Given the description of an element on the screen output the (x, y) to click on. 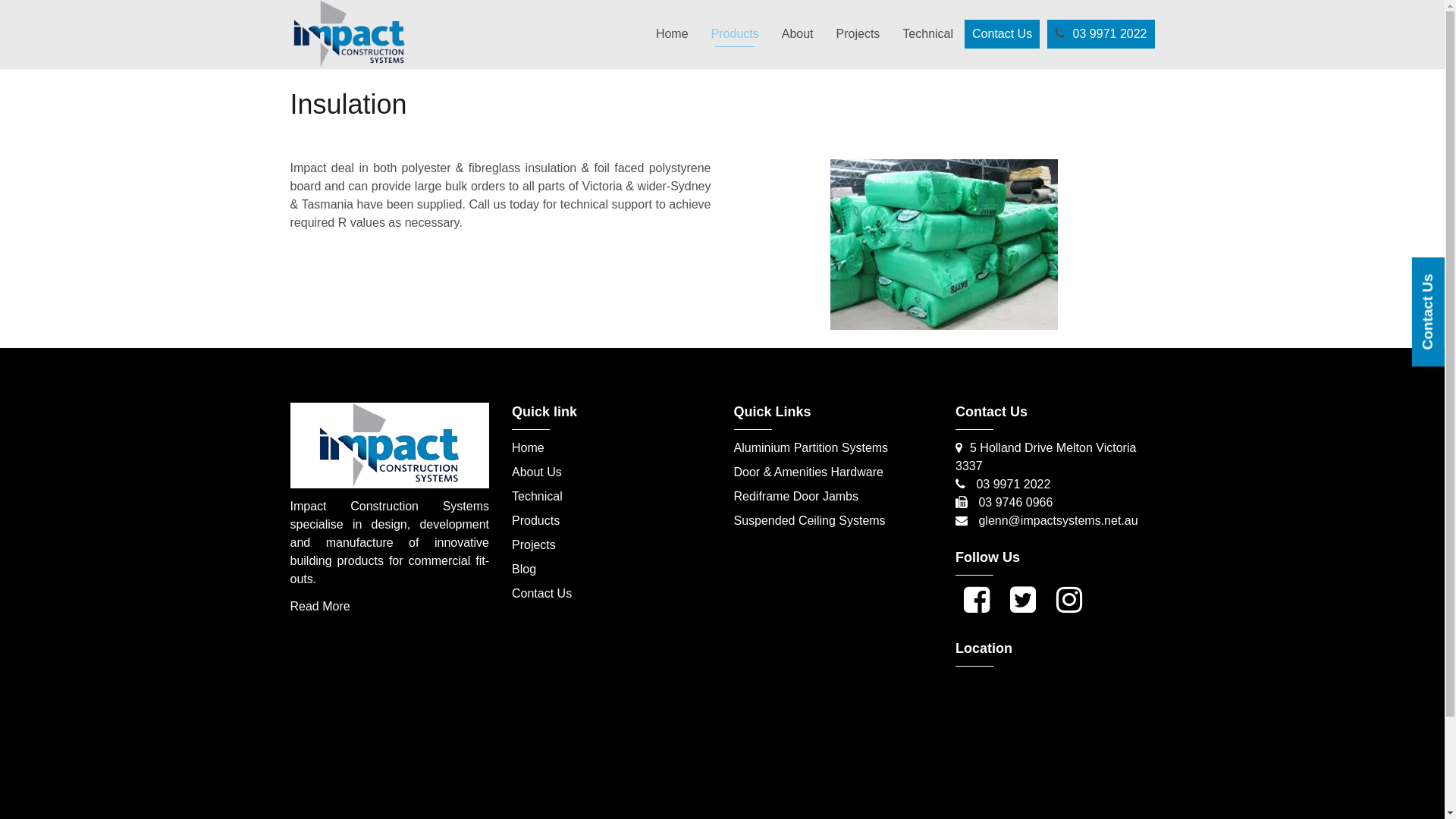
About Element type: text (797, 34)
glenn@impactsystems.net.au Element type: text (1057, 520)
Read More Element type: text (319, 605)
Technical Element type: text (927, 34)
Door & Amenities Hardware Element type: text (808, 471)
Home Element type: text (527, 447)
About Us Element type: text (536, 471)
 03 9971 2022 Element type: text (1100, 33)
Suspended Ceiling Systems Element type: text (809, 520)
Blog Element type: text (523, 568)
Rediframe Door Jambs Element type: text (796, 495)
Contact Us Element type: text (1001, 33)
Products Element type: text (734, 34)
Home Element type: text (671, 34)
Aluminium Partition Systems Element type: text (811, 447)
Products Element type: text (535, 520)
Projects Element type: text (533, 544)
Projects Element type: text (858, 34)
Contact Us Element type: text (541, 592)
Technical Element type: text (536, 495)
03 9971 2022 Element type: text (1011, 483)
